Given the description of an element on the screen output the (x, y) to click on. 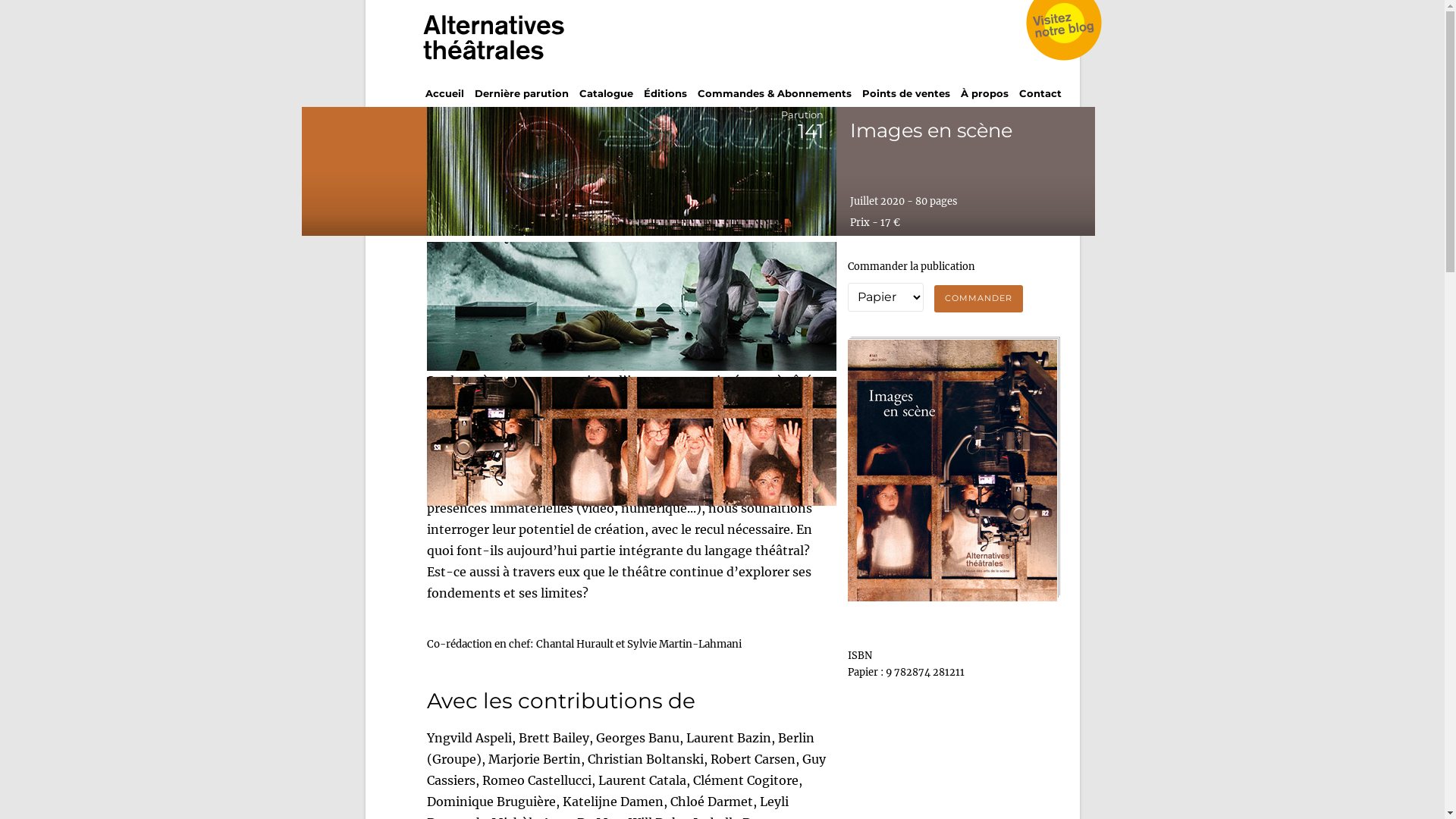
Commandes & Abonnements Element type: text (774, 93)
Points de ventes Element type: text (905, 93)
Contact Element type: text (1040, 93)
Accueil Element type: text (443, 93)
COMMANDER Element type: text (978, 298)
Sommaire Element type: text (475, 286)
En quelques mots Element type: text (497, 265)
Catalogue Element type: text (606, 93)
